Given the description of an element on the screen output the (x, y) to click on. 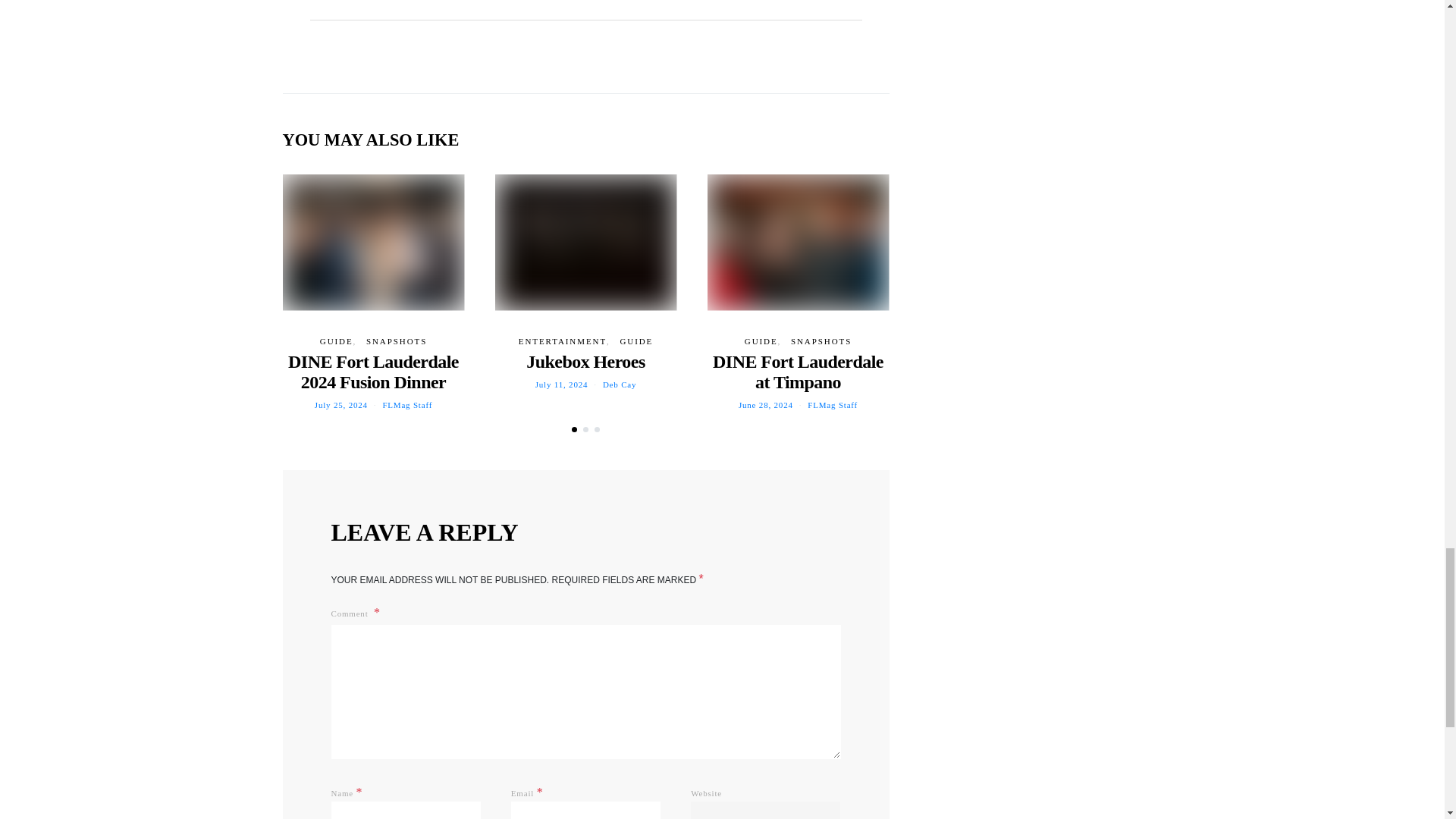
View all posts by Deb Cay (619, 384)
View all posts by FLMag Staff (406, 404)
View all posts by FLMag Staff (832, 404)
